Given the description of an element on the screen output the (x, y) to click on. 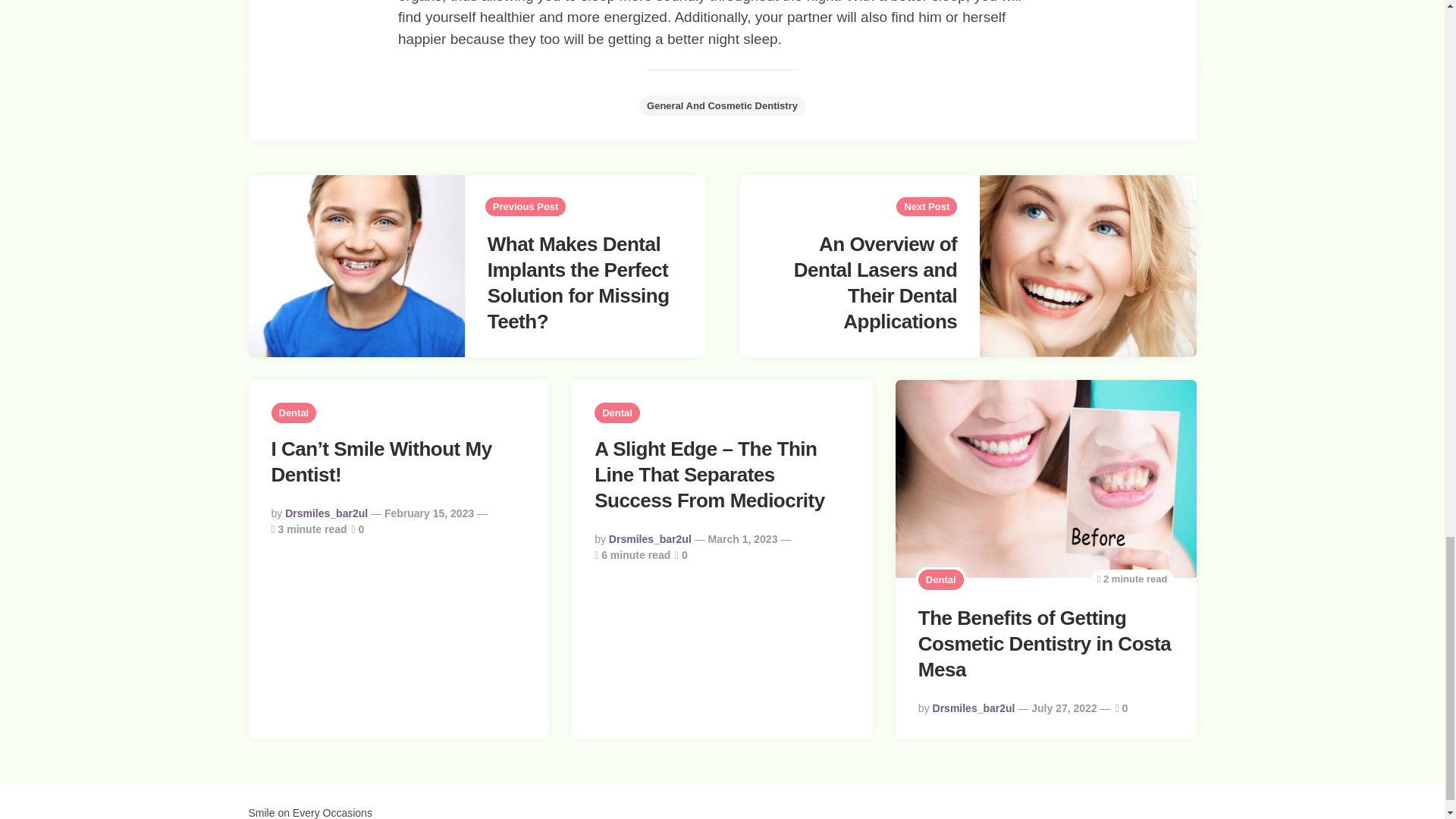
Dental (940, 579)
Dental (293, 412)
Dental (617, 412)
General And Cosmetic Dentistry (722, 105)
An Overview of Dental Lasers and Their Dental Applications (874, 282)
The Benefits of Getting Cosmetic Dentistry in Costa Mesa (1044, 643)
